Given the description of an element on the screen output the (x, y) to click on. 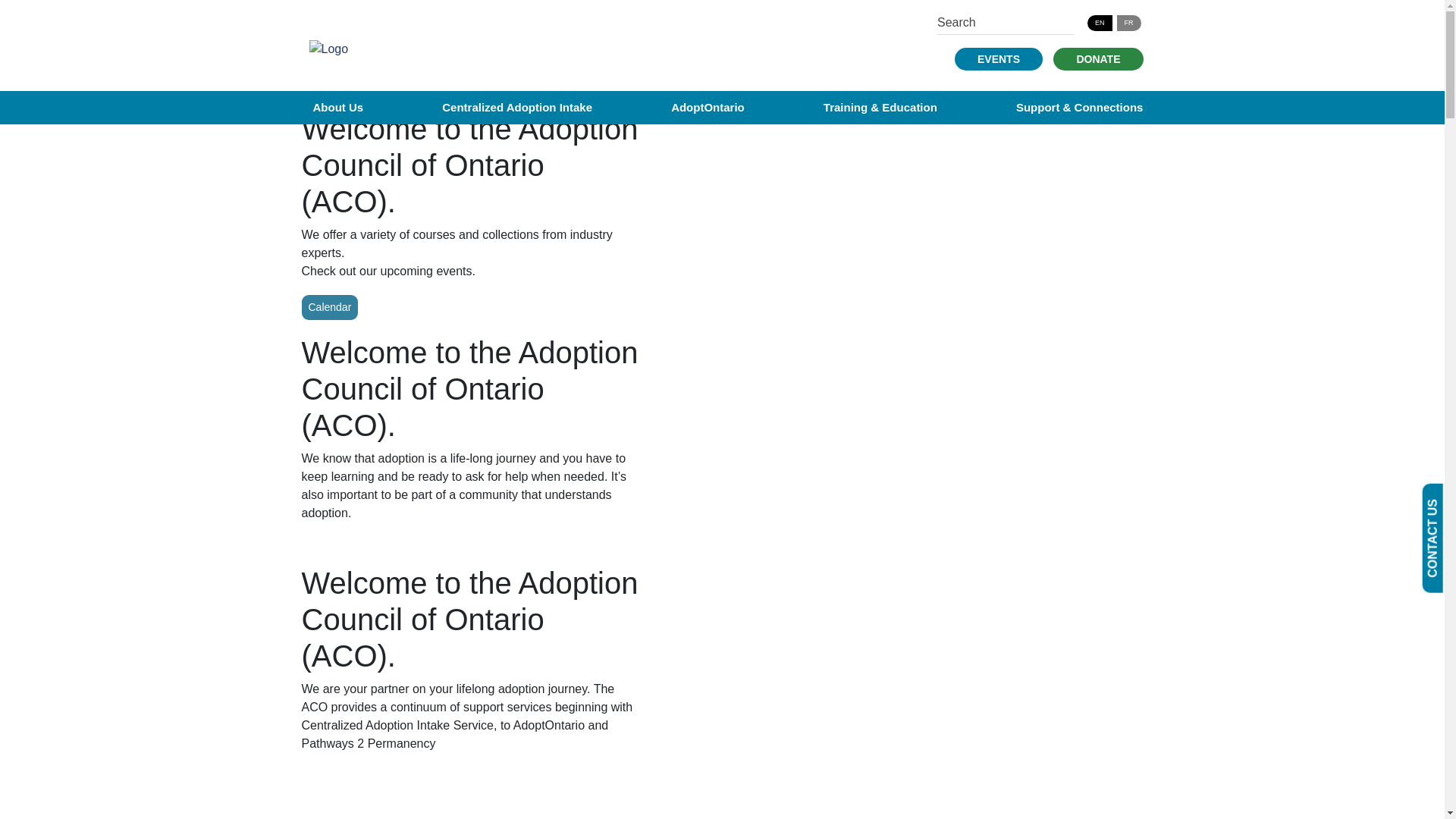
FR (1128, 23)
EN (1099, 23)
AdoptOntario (707, 106)
EVENTS (998, 58)
DONATE (1097, 58)
Calendar (329, 307)
About Us (337, 106)
Centralized Adoption Intake (517, 106)
